Given the description of an element on the screen output the (x, y) to click on. 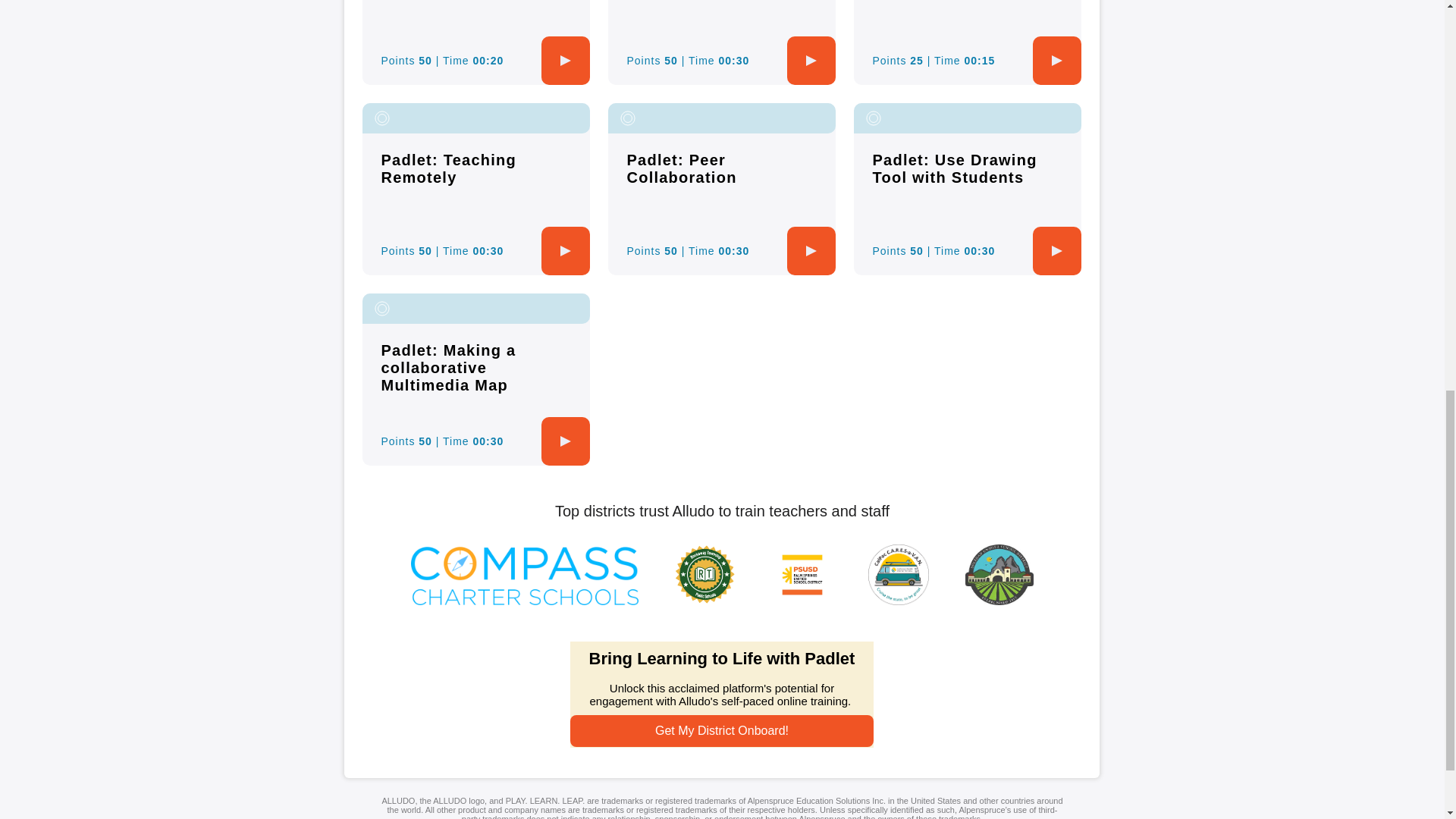
Padlet: Teaching Remotely (448, 168)
Embedded CTA (721, 694)
Padlet: Peer Collaboration (681, 168)
Padlet: Use Drawing Tool with Students (954, 168)
Padlet: Making a collaborative Multimedia Map (447, 367)
